Given the description of an element on the screen output the (x, y) to click on. 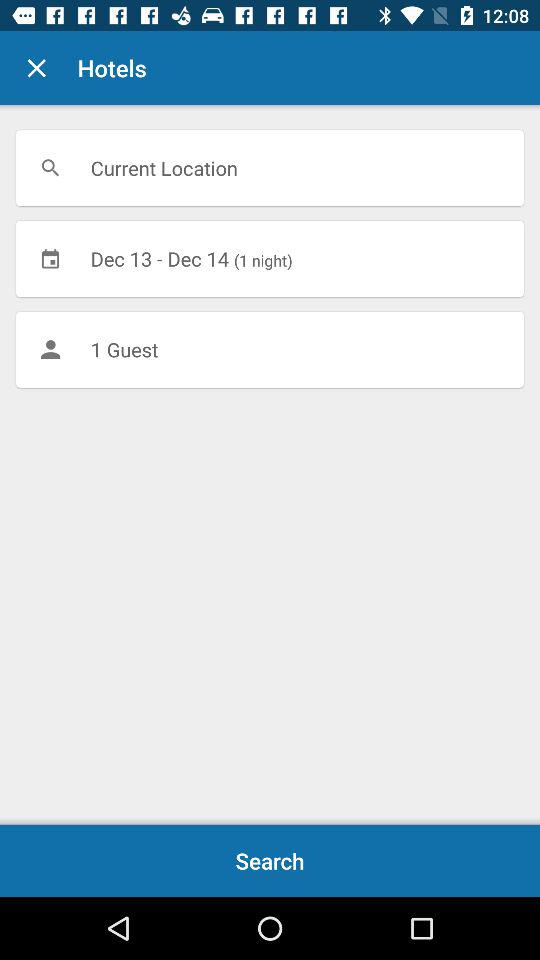
press the dec 13 dec icon (269, 258)
